Given the description of an element on the screen output the (x, y) to click on. 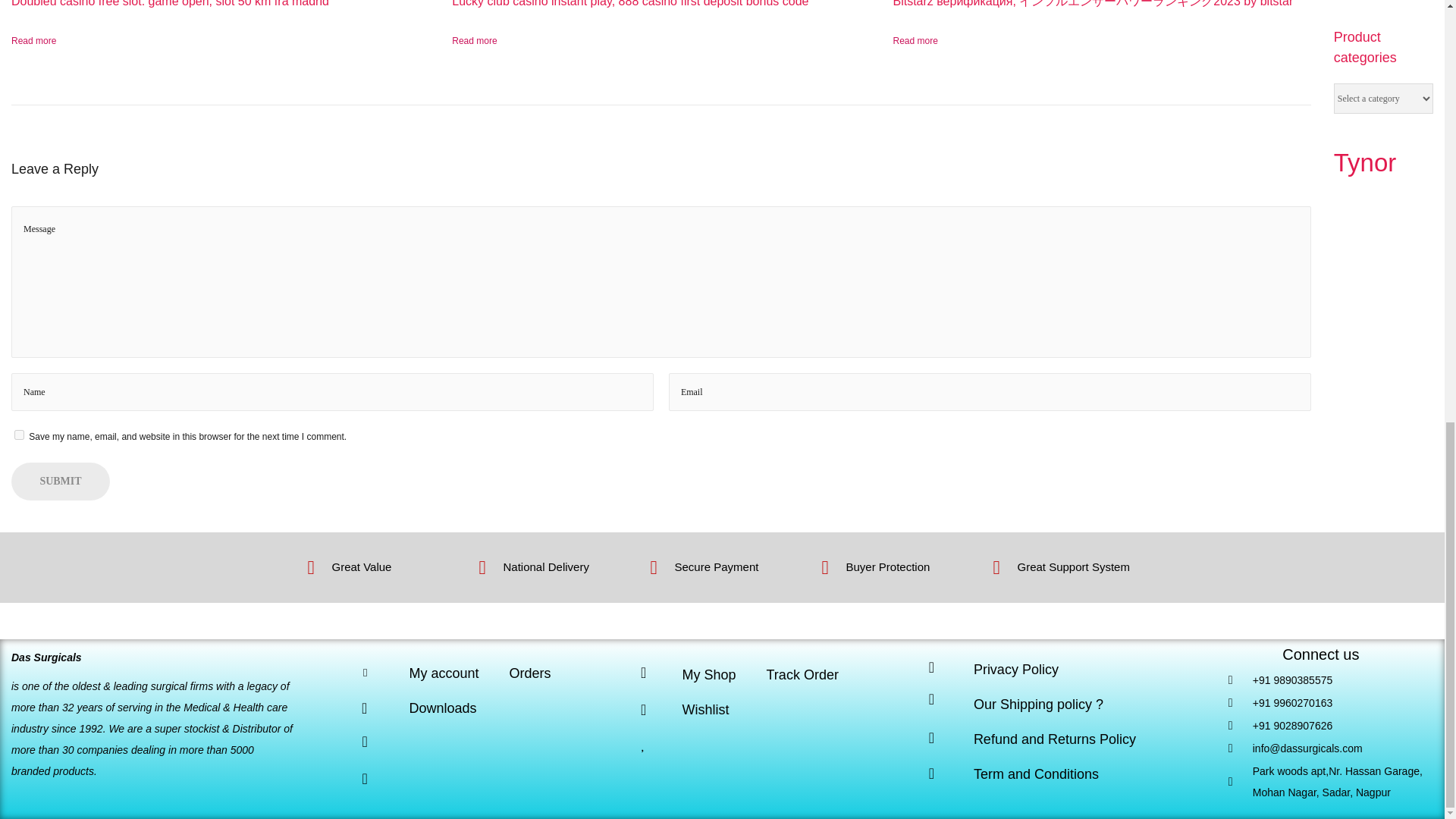
Read more (33, 40)
Submit (60, 481)
yes (19, 434)
Doubleu casino free slot. game open, slot 50 km fra madrid (170, 3)
Read more (473, 40)
